Given the description of an element on the screen output the (x, y) to click on. 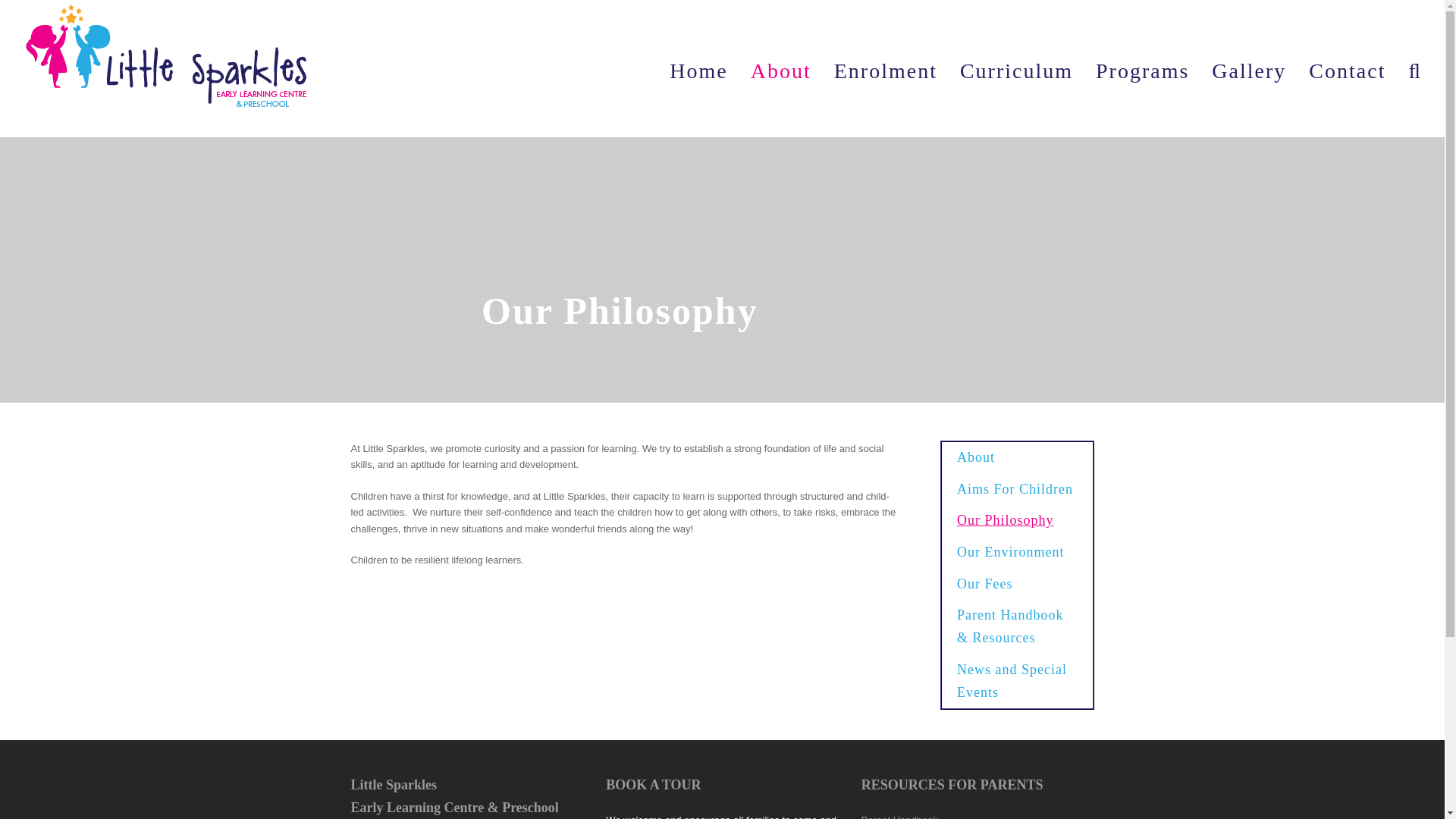
Our Fees (1017, 584)
News and Special Events (1017, 681)
Enrolment (885, 68)
Gallery (1248, 68)
Aims For Children (1017, 490)
Our Environment (1017, 552)
Our Philosophy (1017, 521)
About (1017, 458)
Programs (1141, 68)
Curriculum (1016, 68)
